Given the description of an element on the screen output the (x, y) to click on. 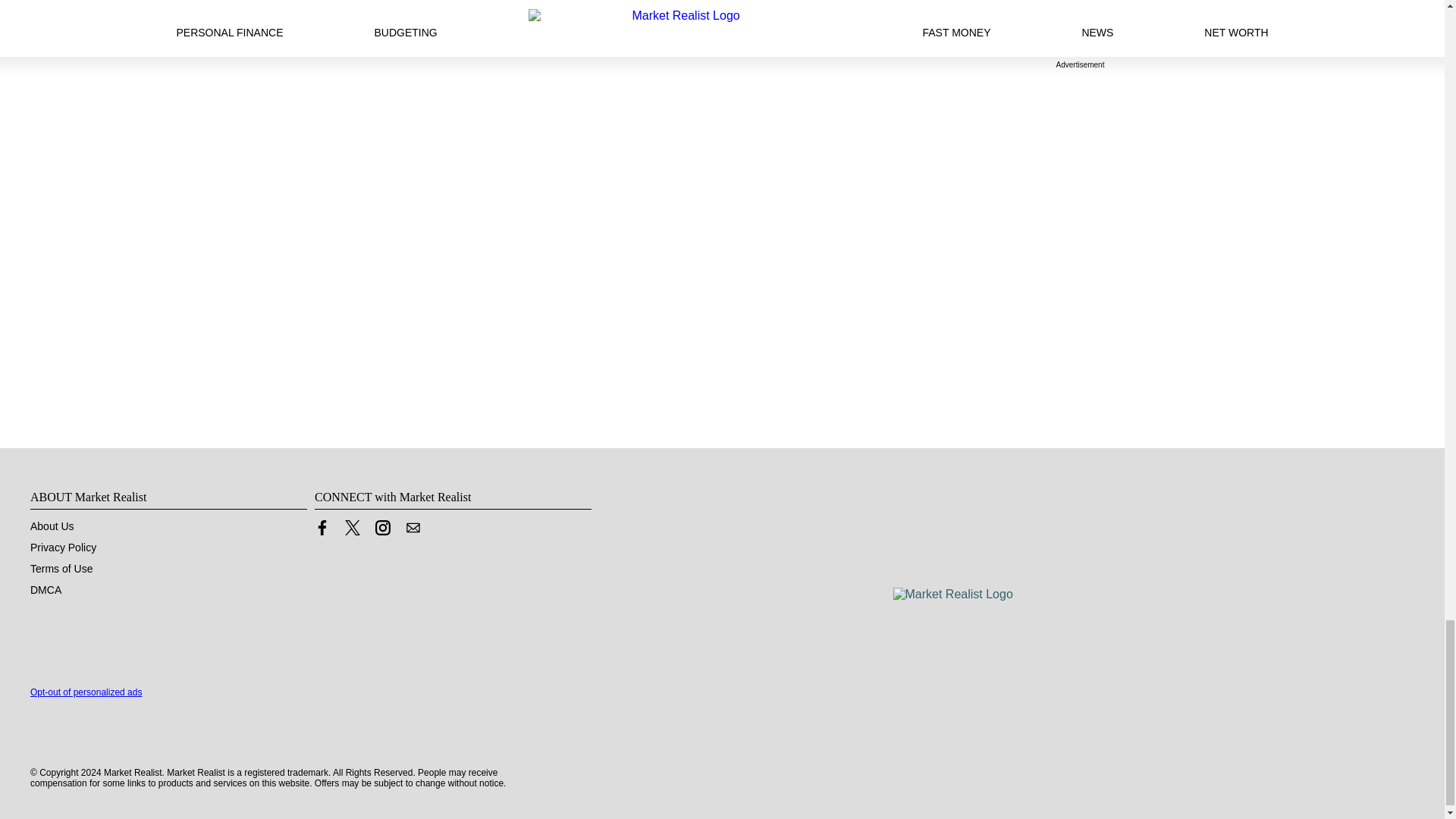
Contact us by Email (413, 531)
Terms of Use (61, 568)
DMCA (45, 589)
Link to Facebook (322, 531)
Contact us by Email (413, 527)
Link to Instagram (382, 531)
Terms of Use (61, 568)
Privacy Policy (63, 547)
Link to X (352, 531)
Privacy Policy (63, 547)
Link to Instagram (382, 527)
DMCA (45, 589)
Link to X (352, 527)
About Us (52, 526)
About Us (52, 526)
